Given the description of an element on the screen output the (x, y) to click on. 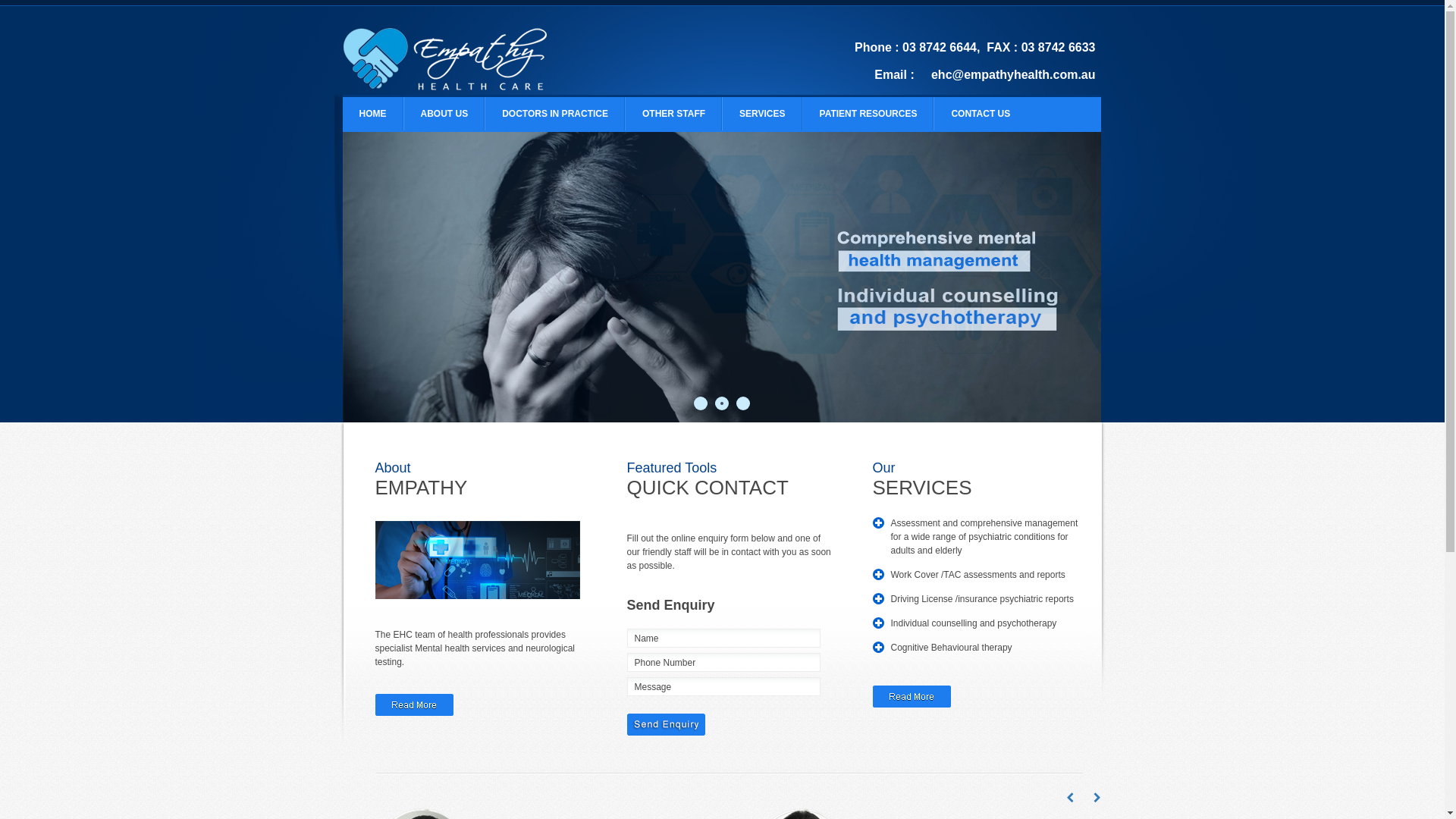
PATIENT RESOURCES Element type: text (868, 113)
CONTACT US Element type: text (980, 113)
DOCTORS IN PRACTICE Element type: text (555, 113)
OTHER STAFF Element type: text (673, 113)
SERVICES Element type: text (761, 113)
empathy Element type: hover (721, 276)
HOME Element type: text (372, 113)
ABOUT US Element type: text (443, 113)
